Given the description of an element on the screen output the (x, y) to click on. 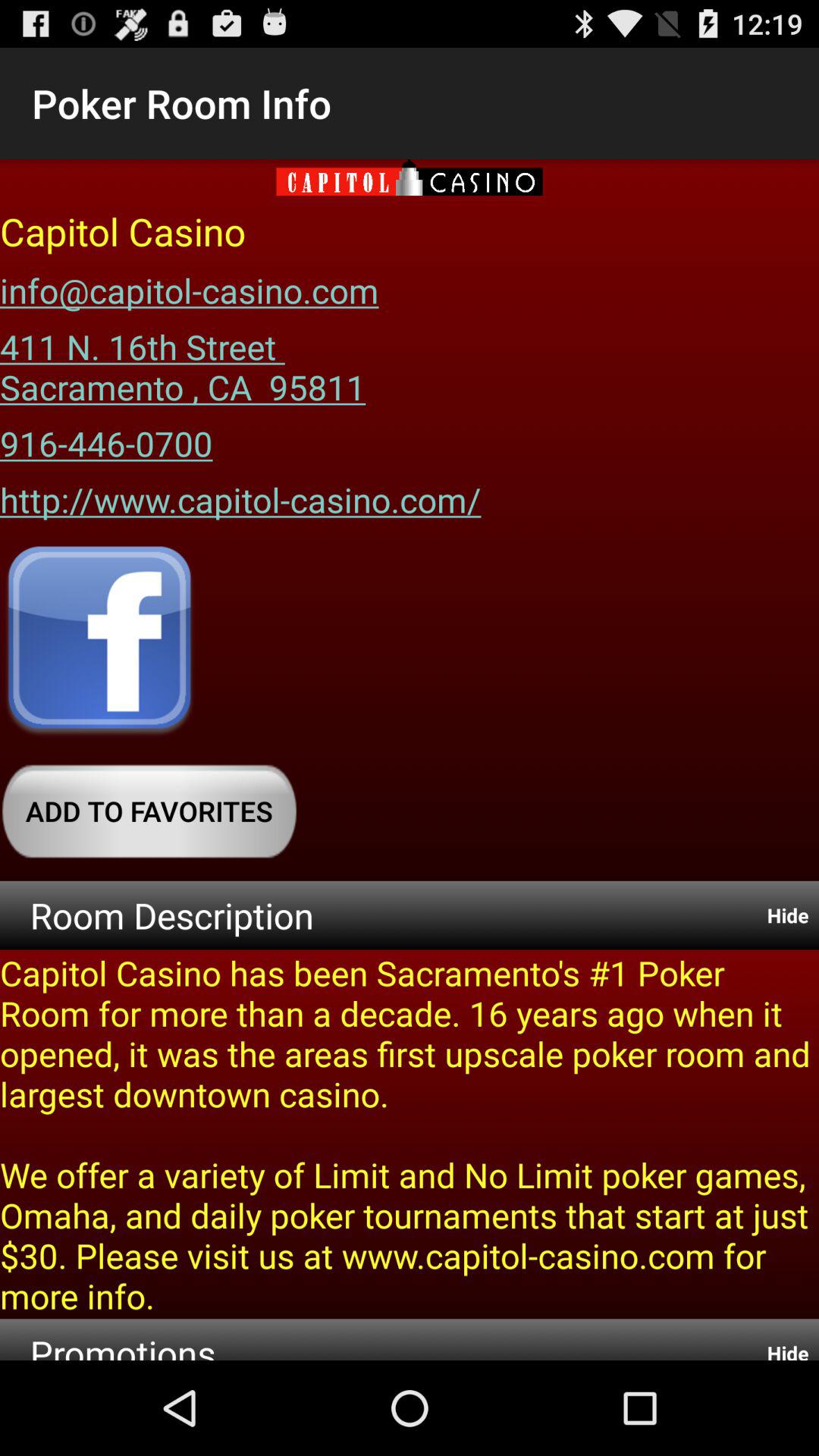
choose 916-446-0700 item (106, 438)
